Given the description of an element on the screen output the (x, y) to click on. 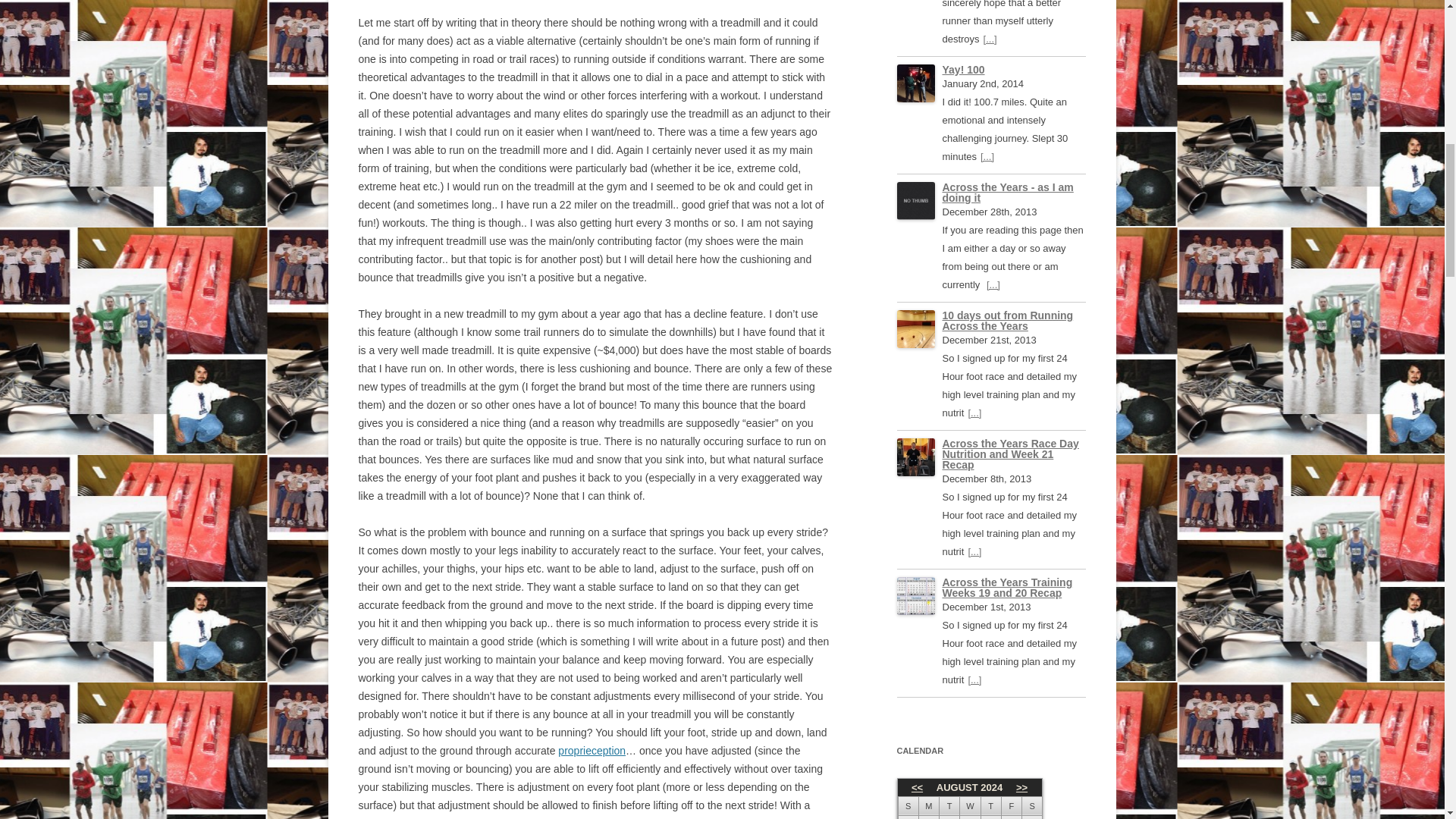
10 days out from Running Across the Years (1007, 320)
Across the Years - as I am doing it (1007, 191)
Proprieception (591, 750)
proprieception (591, 750)
Yay! 100 (963, 69)
